Given the description of an element on the screen output the (x, y) to click on. 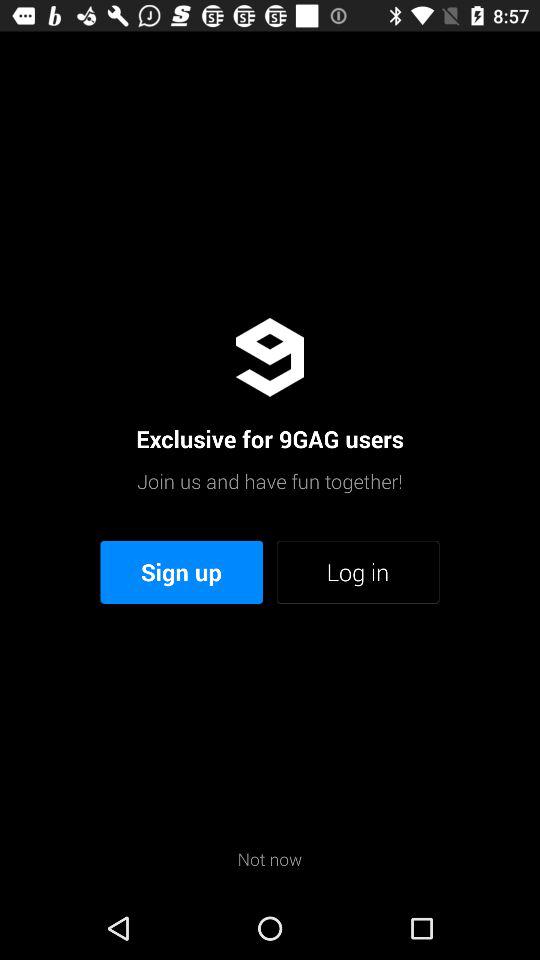
choose the icon below join us and item (181, 571)
